Given the description of an element on the screen output the (x, y) to click on. 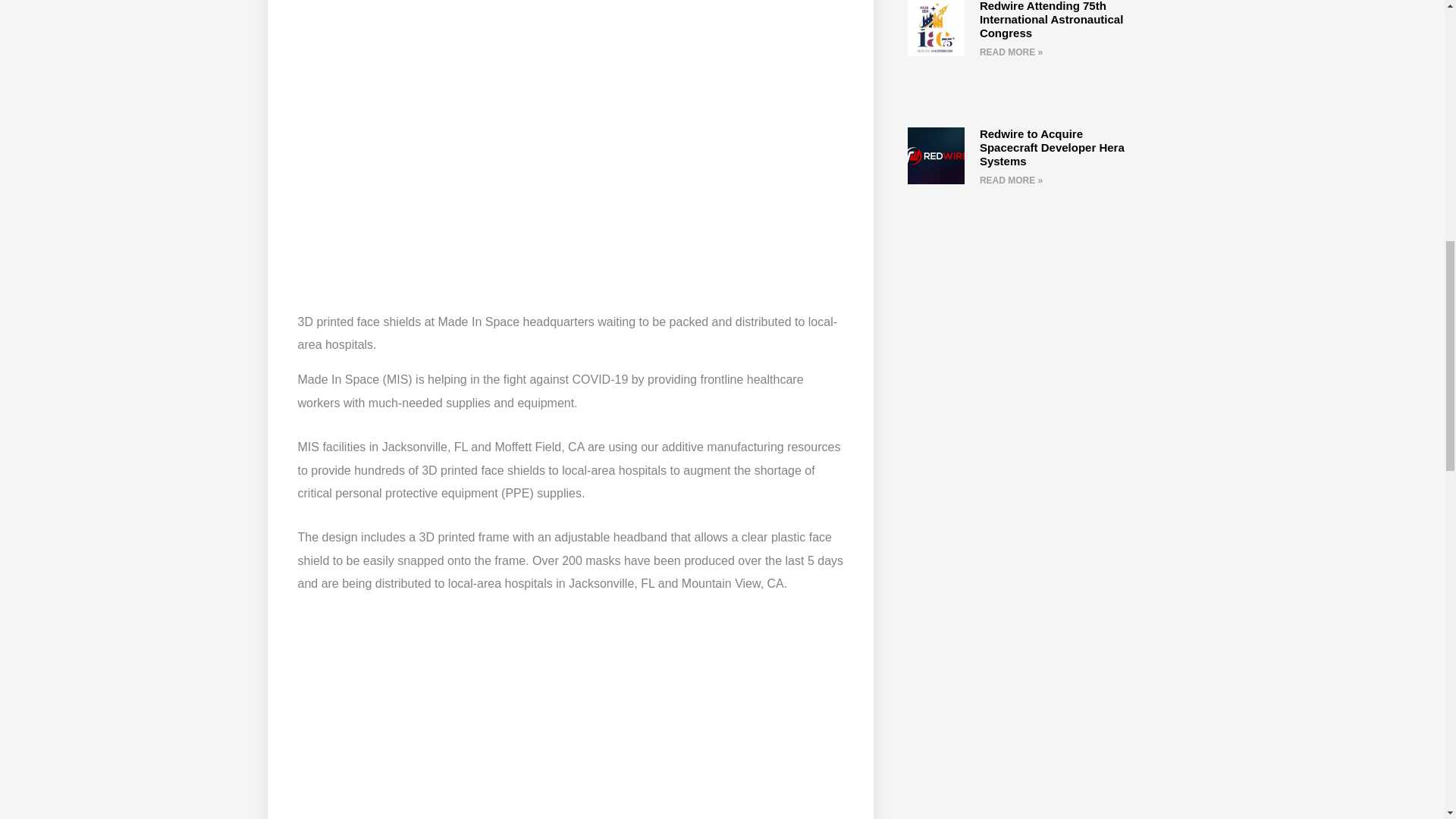
Redwire Attending 75th International Astronautical Congress (1050, 19)
Redwire to Acquire Spacecraft Developer Hera Systems (1051, 147)
